Given the description of an element on the screen output the (x, y) to click on. 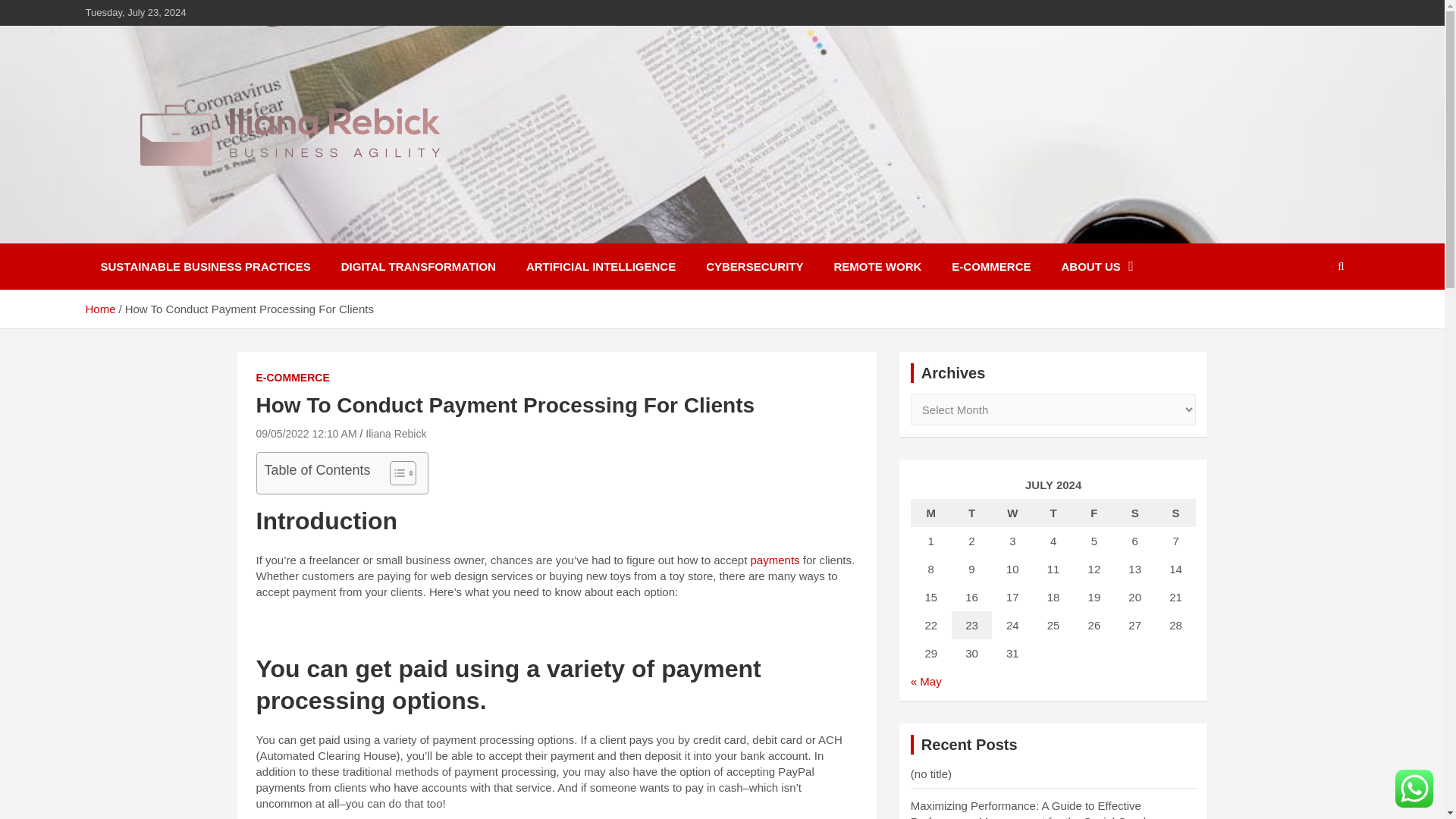
Monday (931, 512)
How To Conduct Payment Processing For Clients (306, 433)
Saturday (1135, 512)
SUSTAINABLE BUSINESS PRACTICES (204, 266)
ARTIFICIAL INTELLIGENCE (600, 266)
E-COMMERCE (293, 378)
CYBERSECURITY (754, 266)
Friday (1094, 512)
Wednesday (1011, 512)
ABOUT US (1097, 266)
E-COMMERCE (990, 266)
Iliana Rebick (177, 232)
Home (99, 308)
Iliana Rebick (395, 433)
